Given the description of an element on the screen output the (x, y) to click on. 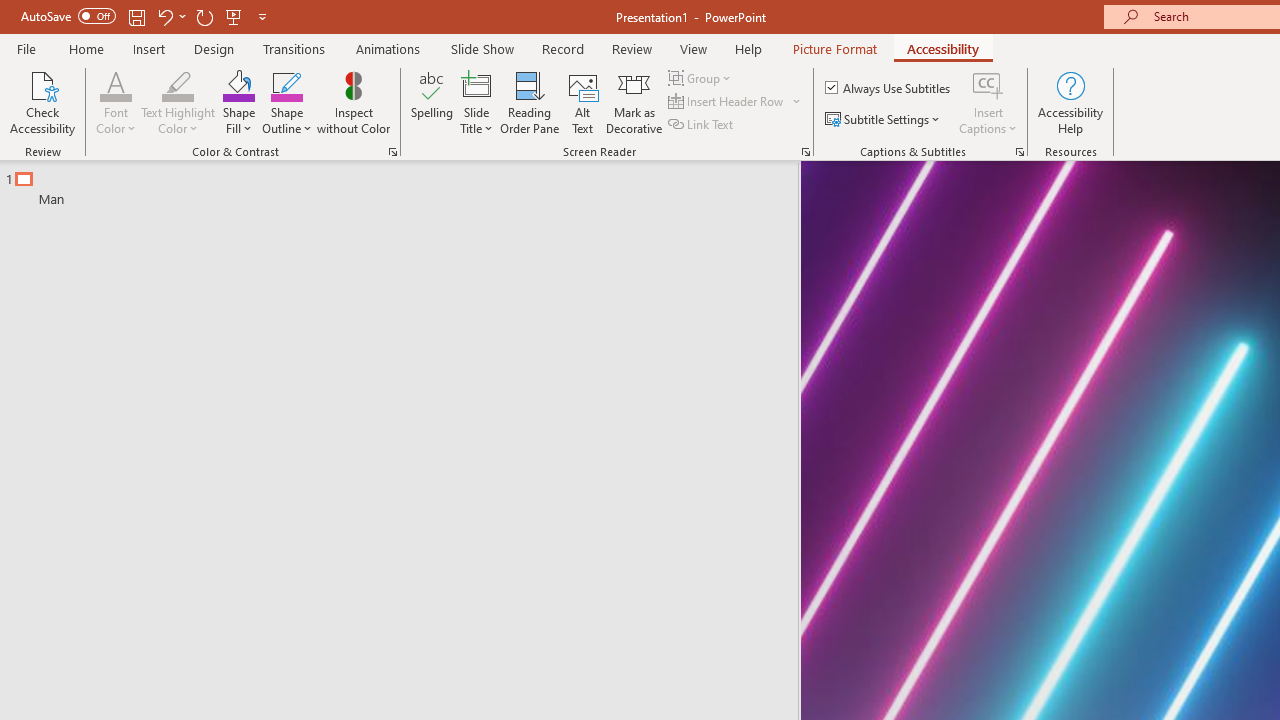
More Options (988, 121)
Group (701, 78)
Link Text (702, 124)
Review (631, 48)
System (10, 11)
Check Accessibility (42, 102)
Insert Captions (988, 102)
Quick Access Toolbar (145, 16)
Shape Fill (238, 102)
